Given the description of an element on the screen output the (x, y) to click on. 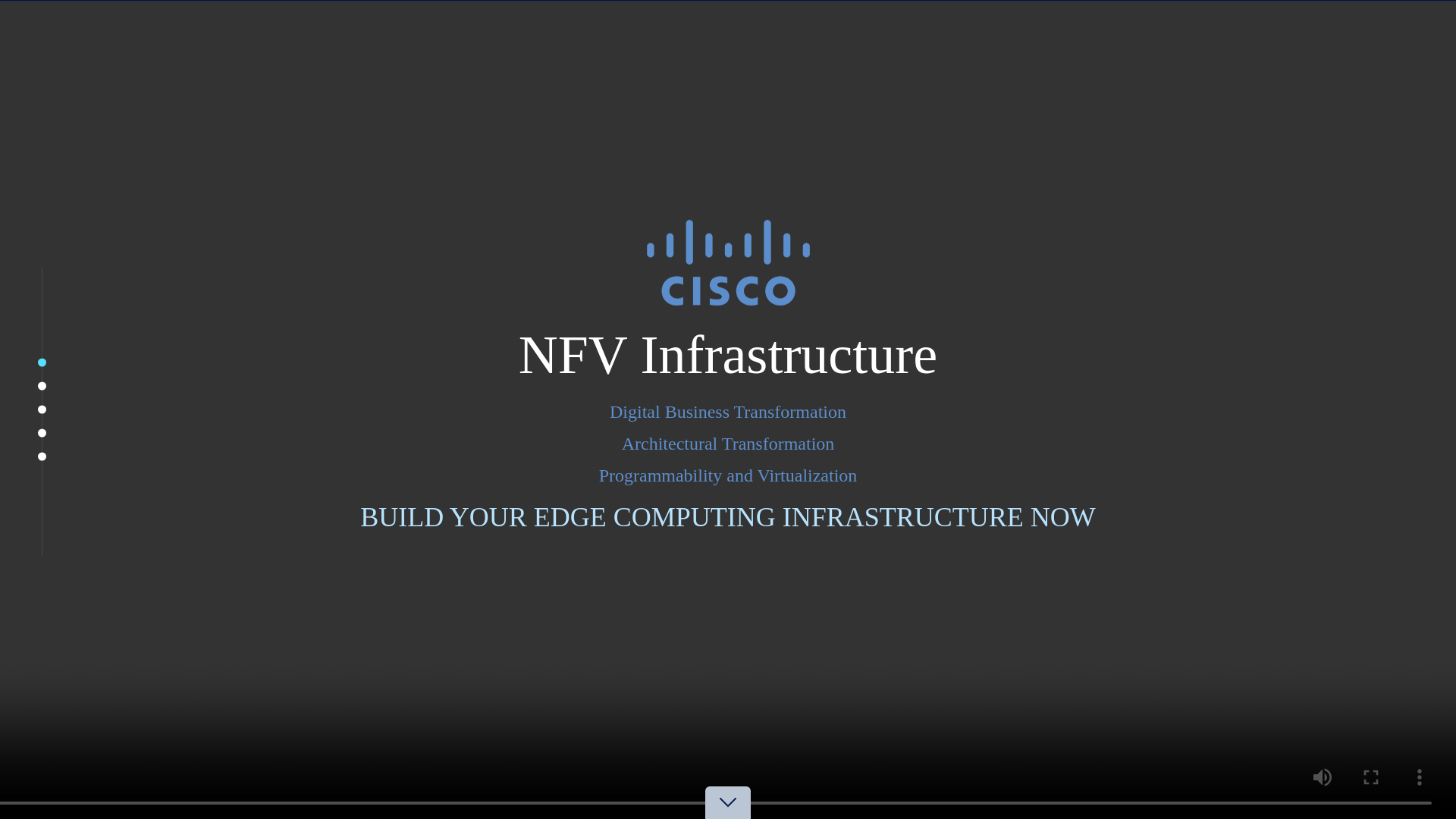
Scroll Down (727, 818)
